Given the description of an element on the screen output the (x, y) to click on. 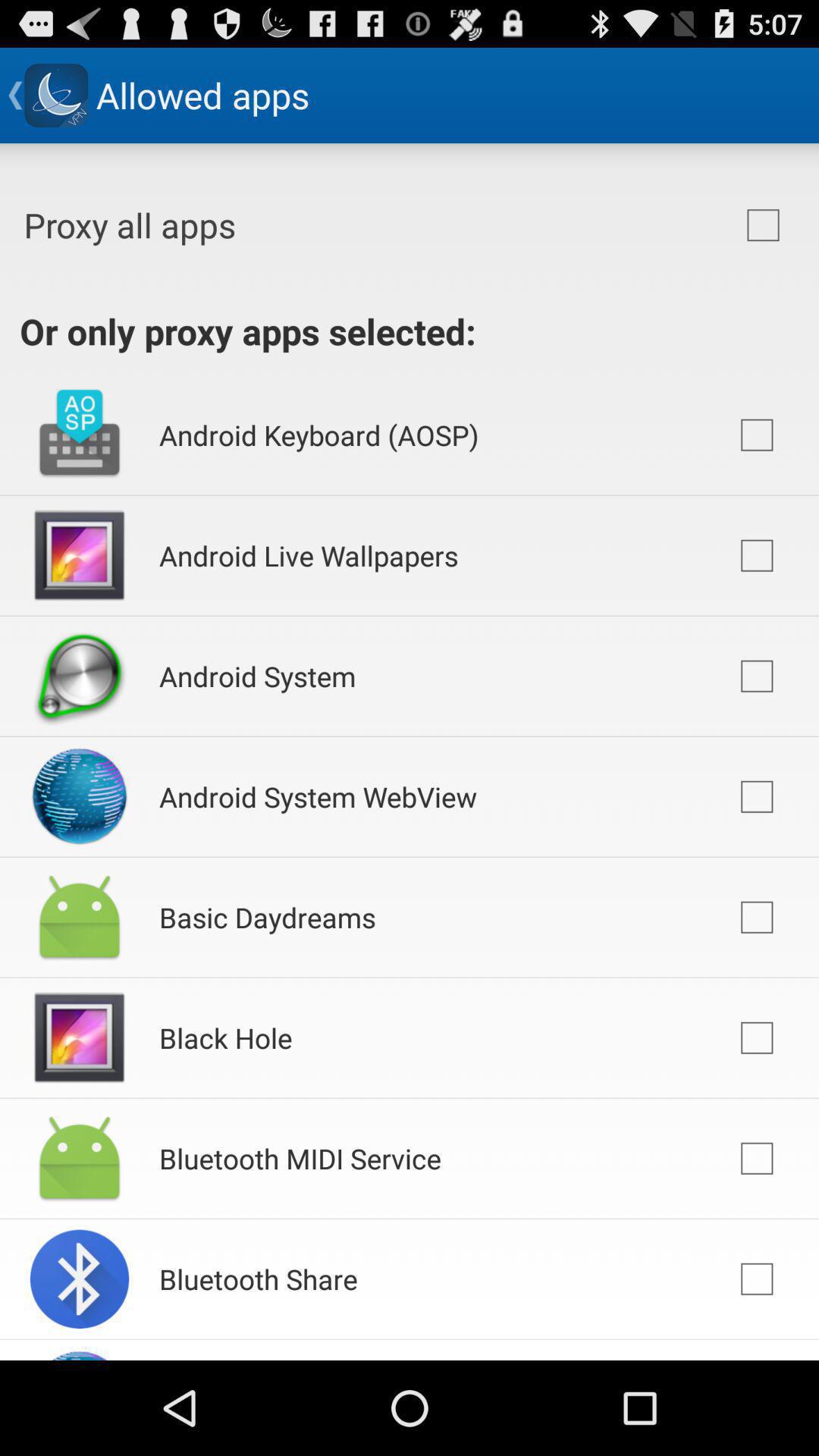
open the app above the bluetooth share (300, 1158)
